Given the description of an element on the screen output the (x, y) to click on. 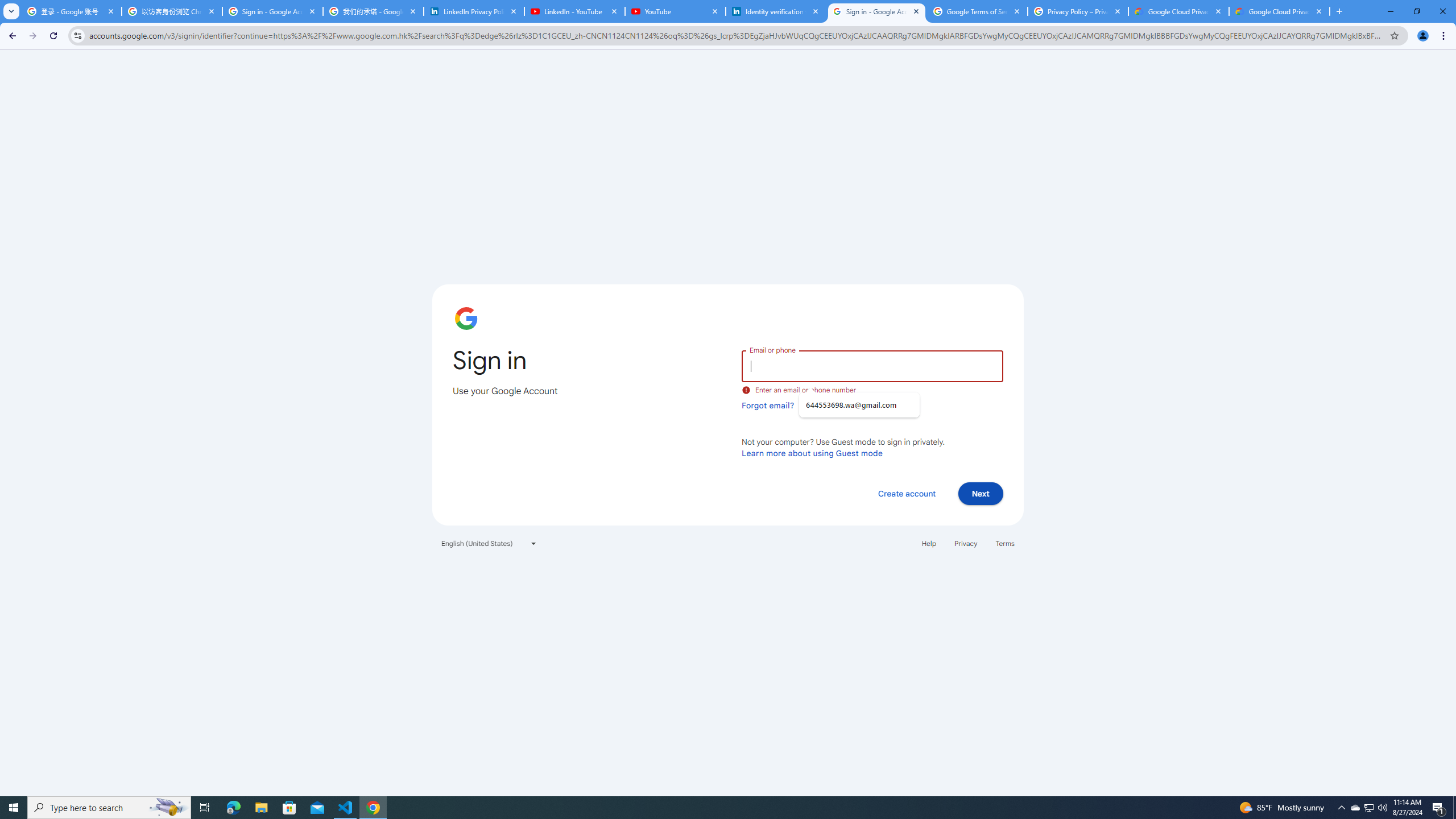
Forgot email? (767, 404)
LinkedIn Privacy Policy (474, 11)
Create account (905, 493)
644553698.wa@gmail.com (858, 404)
